Given the description of an element on the screen output the (x, y) to click on. 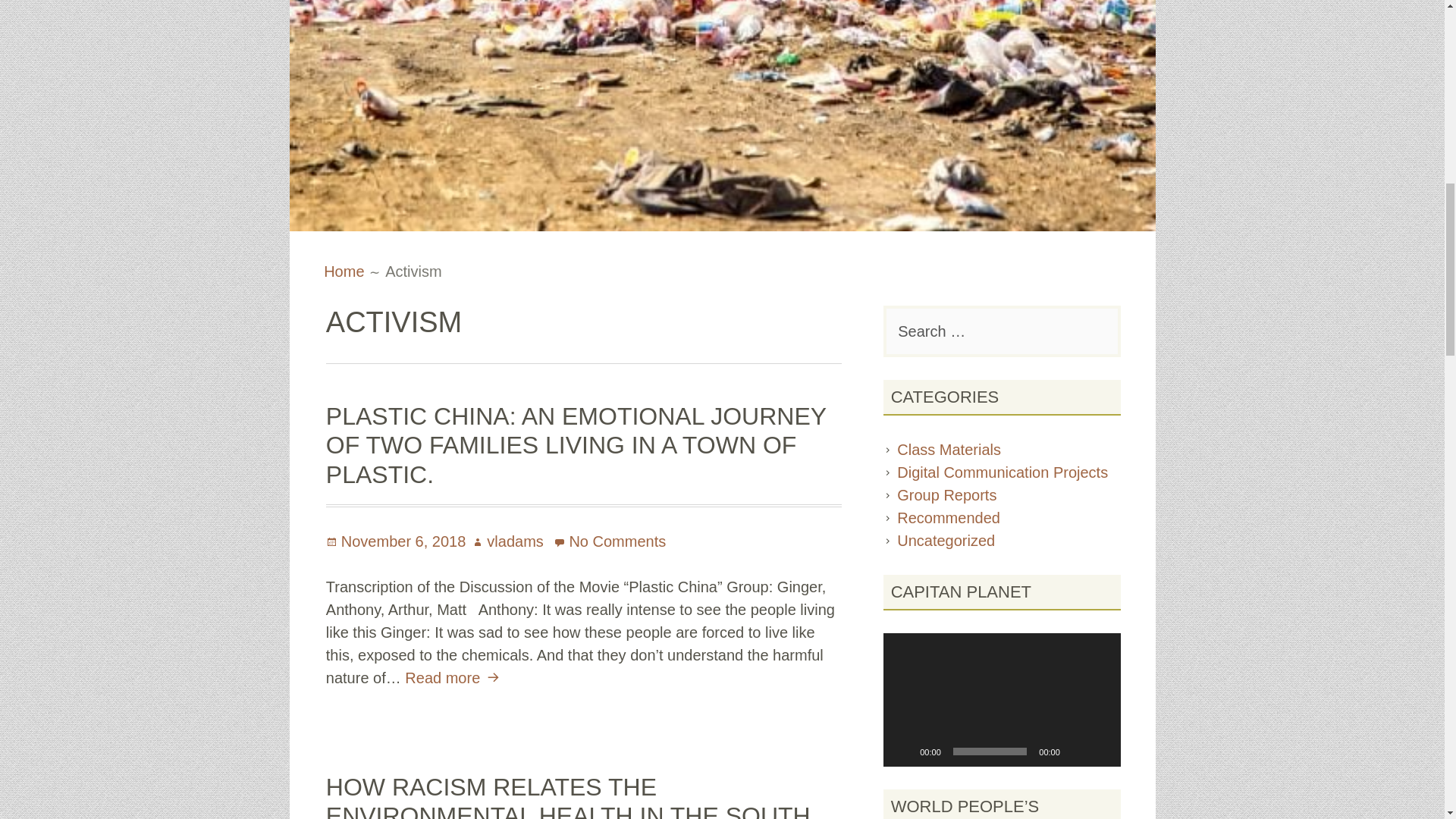
Uncategorized (945, 540)
vladams (507, 541)
Class Materials (948, 449)
Group Reports (945, 494)
HOW RACISM RELATES THE ENVIRONMENTAL HEALTH IN THE SOUTH (568, 796)
Recommended (948, 517)
November 6, 2018 (395, 541)
Digital Communication Projects (1002, 472)
Home (343, 271)
Play (903, 751)
Mute (1076, 751)
Fullscreen (1100, 751)
